Given the description of an element on the screen output the (x, y) to click on. 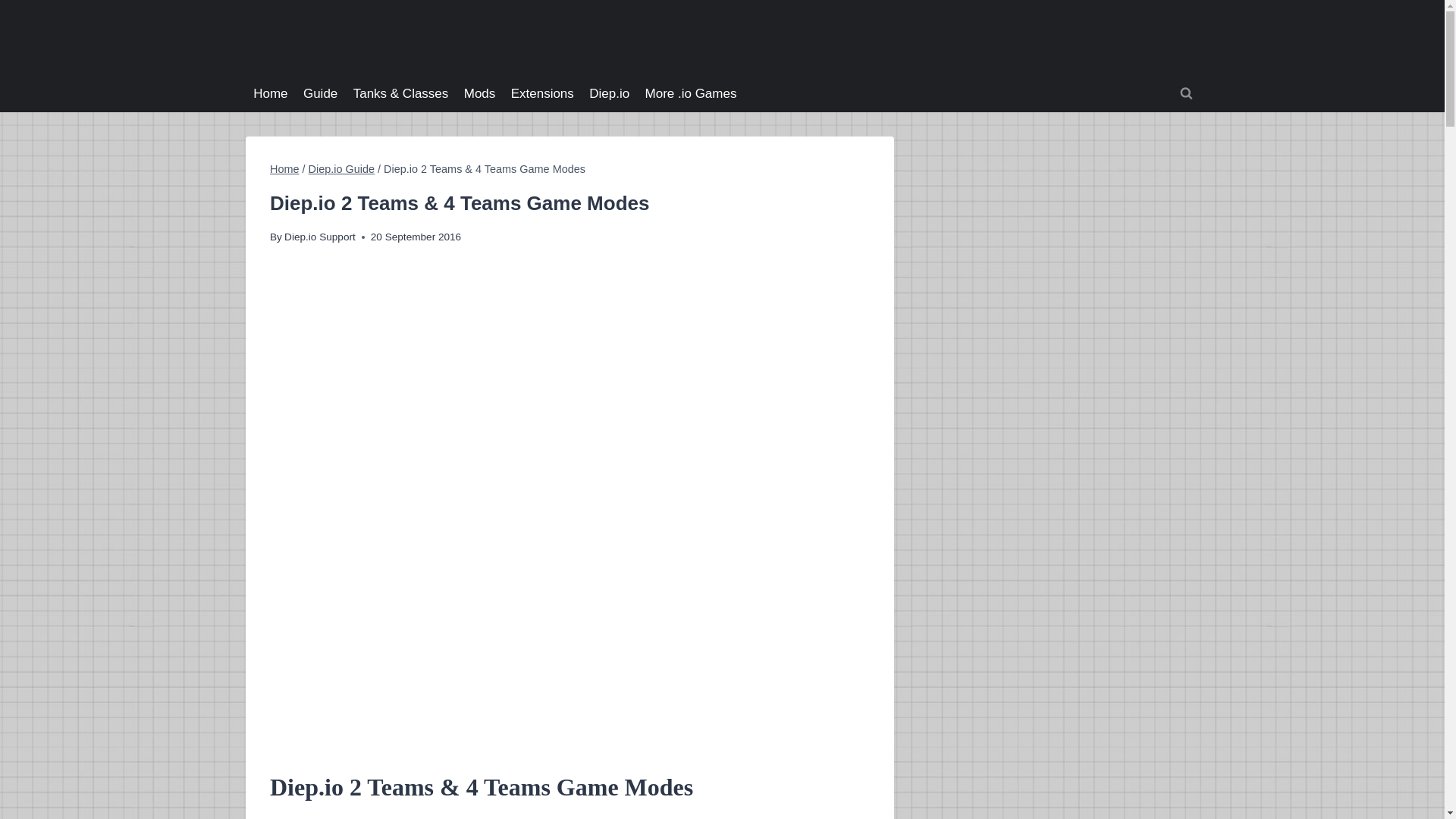
More .io Games (690, 94)
Diep.io (608, 94)
Home (284, 168)
Home (270, 94)
Guide (320, 94)
Mods (480, 94)
Diep.io Guide (341, 168)
Extensions (541, 94)
Diep.io Support (319, 236)
